Given the description of an element on the screen output the (x, y) to click on. 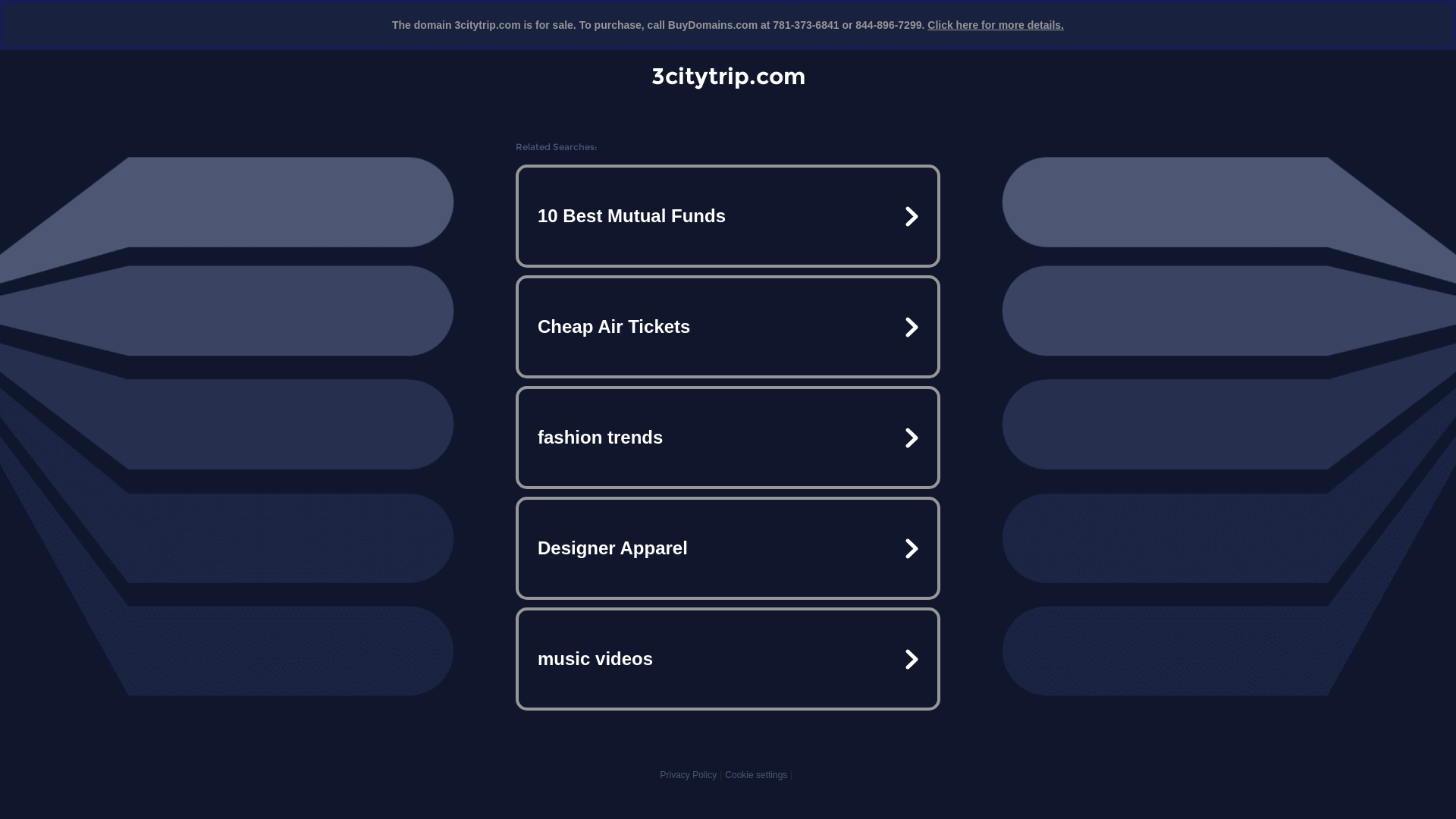
music videos Element type: text (727, 658)
Cheap Air Tickets Element type: text (727, 326)
Cookie settings Element type: text (755, 774)
10 Best Mutual Funds Element type: text (727, 215)
fashion trends Element type: text (727, 437)
3citytrip.com Element type: text (727, 76)
Designer Apparel Element type: text (727, 547)
Privacy Policy Element type: text (687, 774)
